Given the description of an element on the screen output the (x, y) to click on. 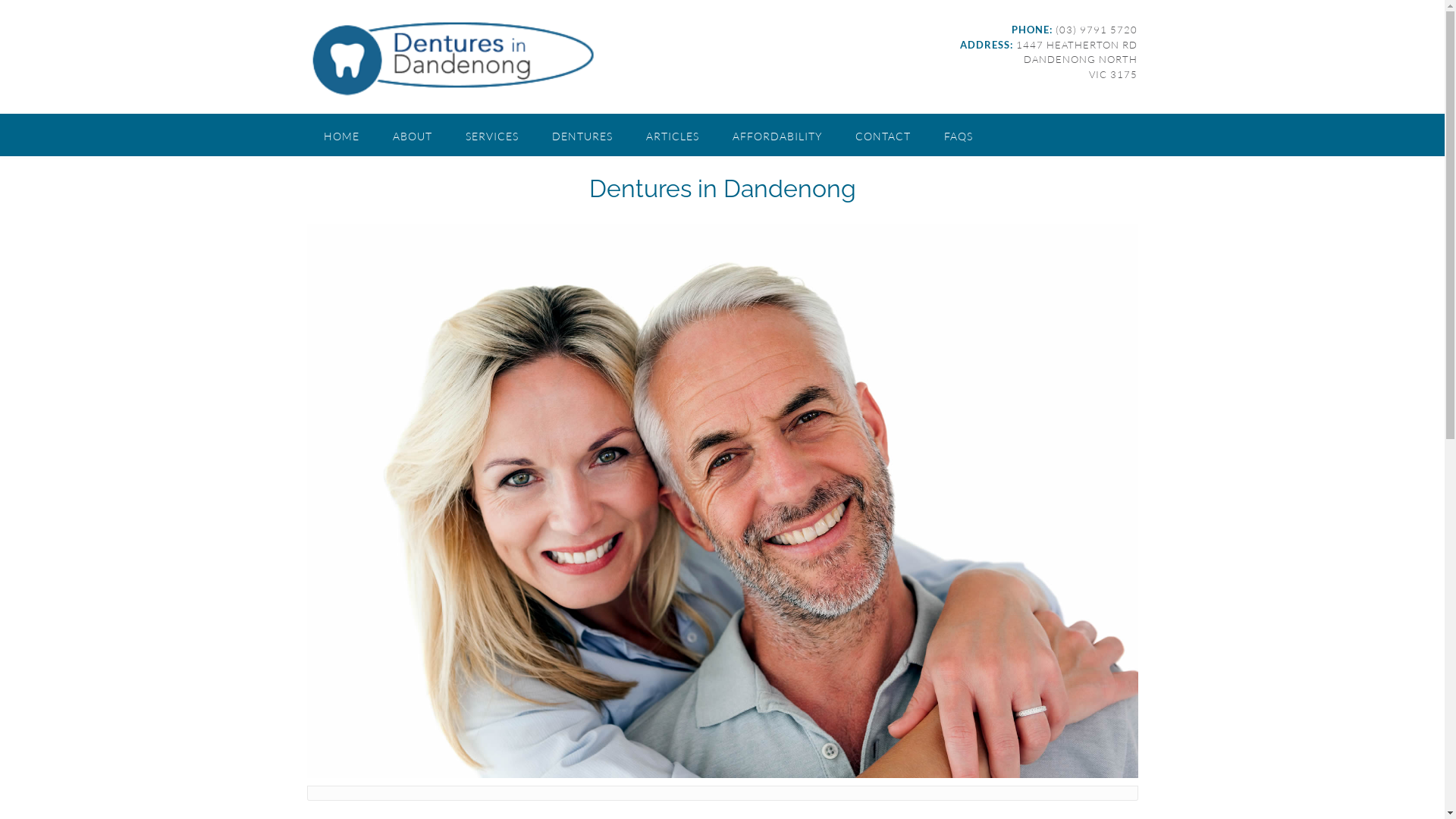
CONTACT Element type: text (882, 134)
FAQS Element type: text (957, 134)
DENTURES Element type: text (582, 134)
AFFORDABILITY Element type: text (776, 134)
ABOUT Element type: text (412, 134)
HOME Element type: text (340, 134)
SERVICES Element type: text (491, 134)
ARTICLES Element type: text (672, 134)
